Given the description of an element on the screen output the (x, y) to click on. 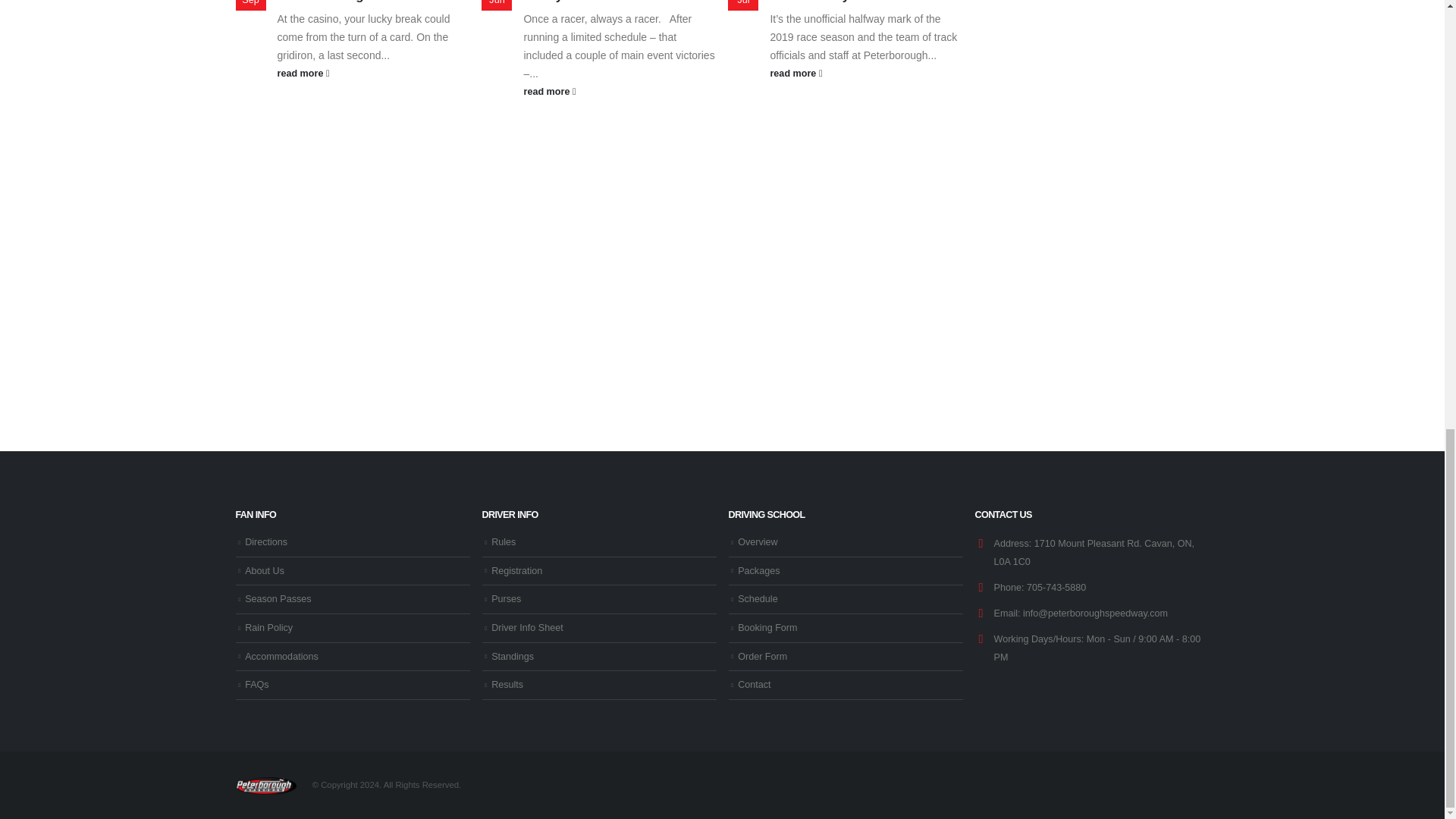
Peterborough Speedway -  (264, 784)
